Given the description of an element on the screen output the (x, y) to click on. 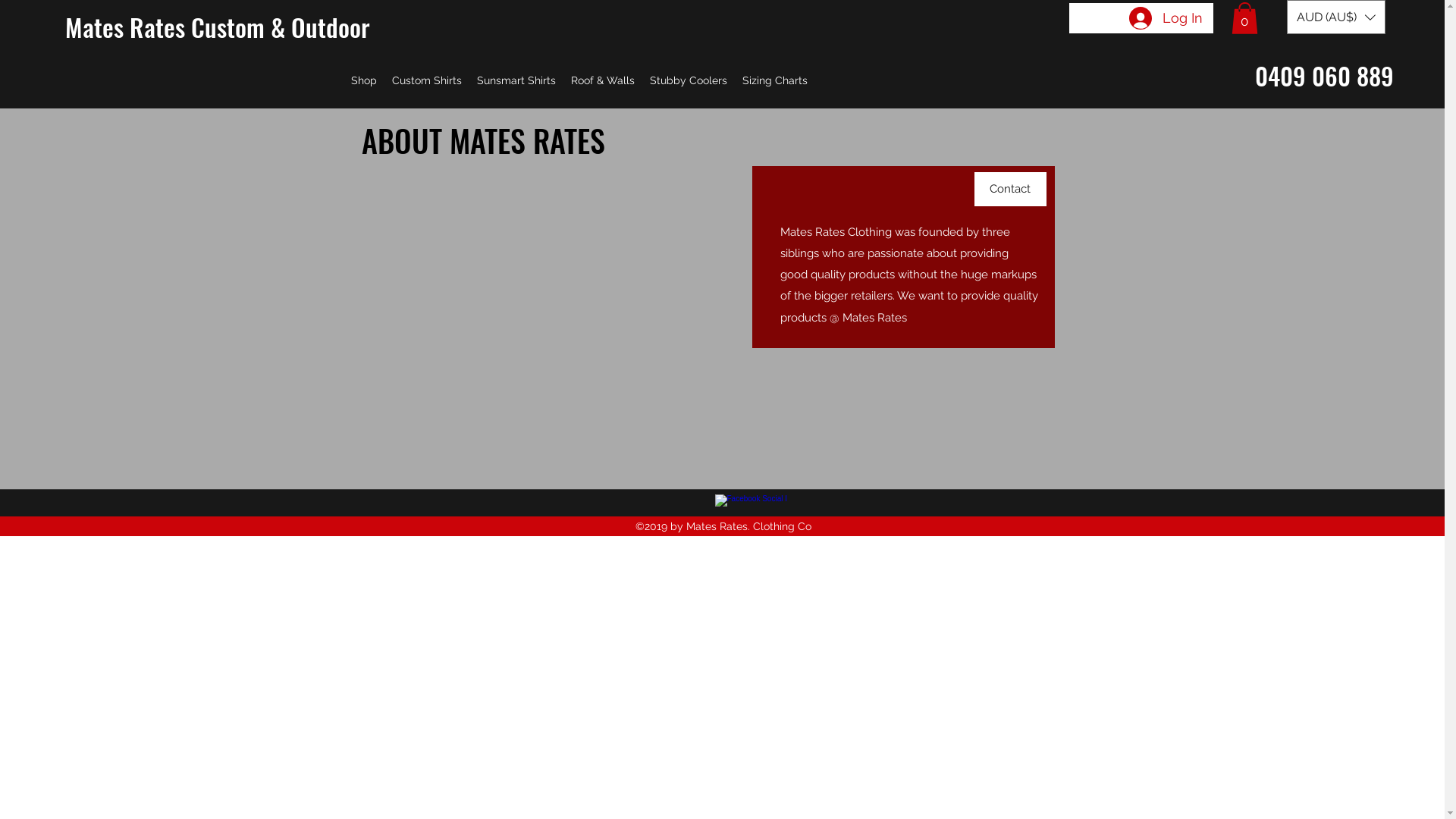
Shop Element type: text (363, 80)
Stubby Coolers Element type: text (688, 80)
Sizing Charts Element type: text (774, 80)
Log In Element type: text (1164, 17)
AUD (AU$) Element type: text (1335, 17)
0 Element type: text (1244, 18)
Sunsmart Shirts Element type: text (516, 80)
Roof & Walls Element type: text (602, 80)
Custom Shirts Element type: text (426, 80)
